Given the description of an element on the screen output the (x, y) to click on. 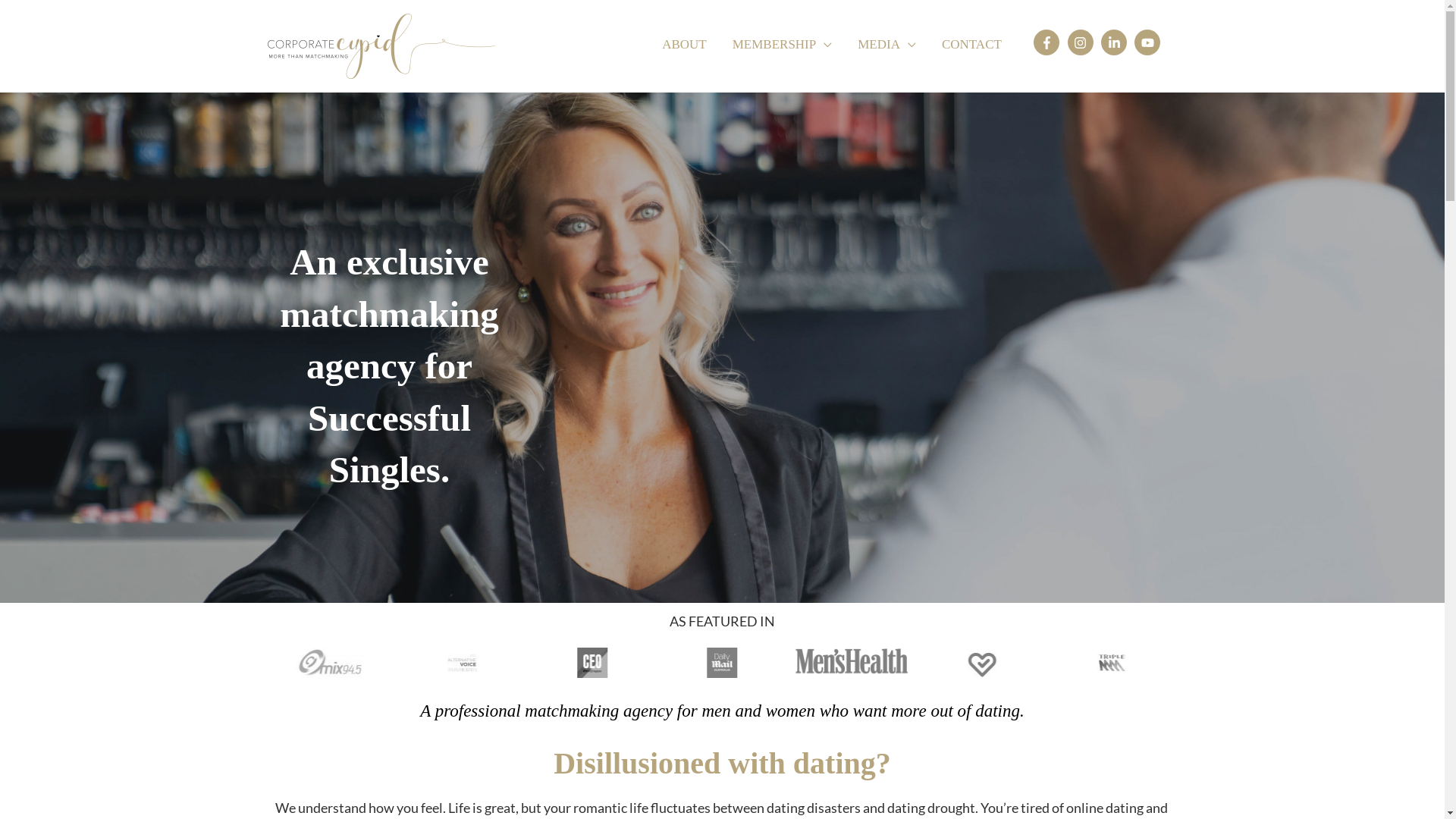
MEMBERSHIP Element type: text (782, 44)
ABOUT Element type: text (684, 44)
MEDIA Element type: text (886, 44)
CONTACT Element type: text (971, 44)
